Given the description of an element on the screen output the (x, y) to click on. 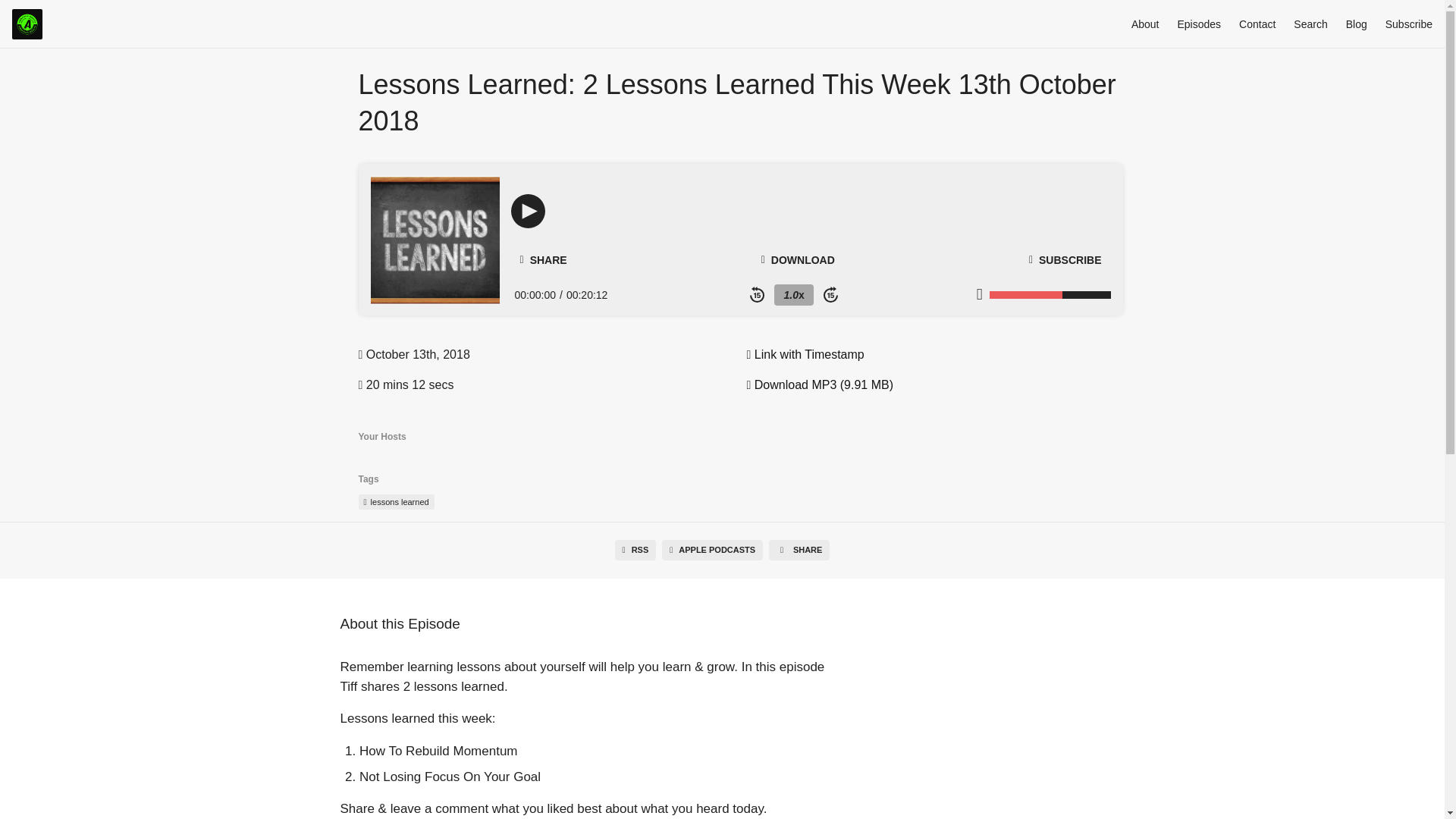
Link with Timestamp (804, 354)
Search (1310, 24)
Contact (1257, 24)
Episodes (1198, 24)
SHARE (798, 549)
DOWNLOAD (798, 259)
Blog (1356, 24)
Subscribe (1409, 24)
1.0x (793, 294)
APPLE PODCASTS (712, 549)
